Given the description of an element on the screen output the (x, y) to click on. 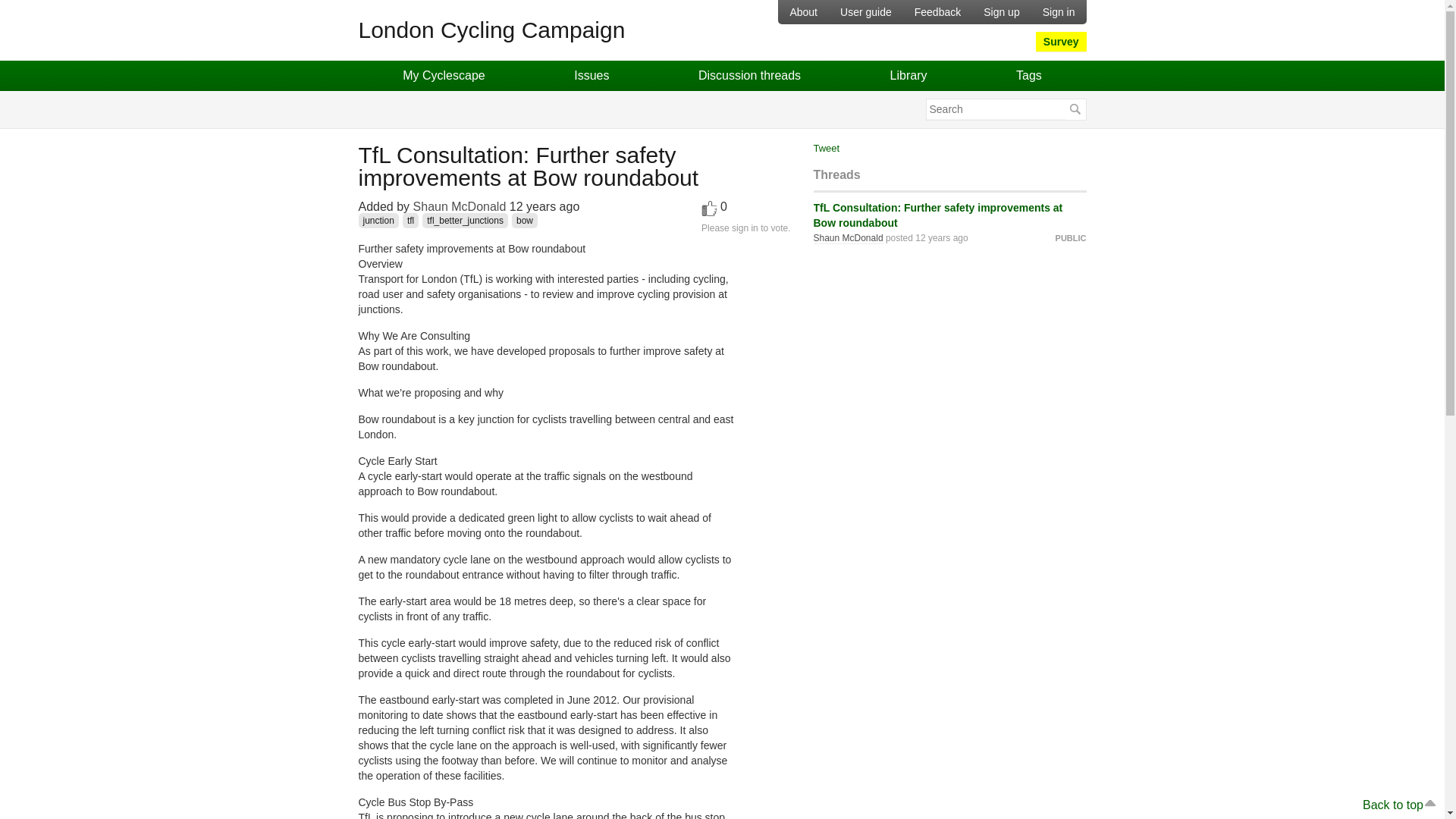
About (802, 11)
GO (1074, 109)
Tags (1028, 75)
Listed problems, browsable on the map or as a list (591, 75)
bow (524, 220)
London Cycling Campaign (695, 35)
Tweet (826, 147)
Reusable resources for campaigning (908, 75)
Discussions on each issue (749, 75)
Discussion threads (749, 75)
